Given the description of an element on the screen output the (x, y) to click on. 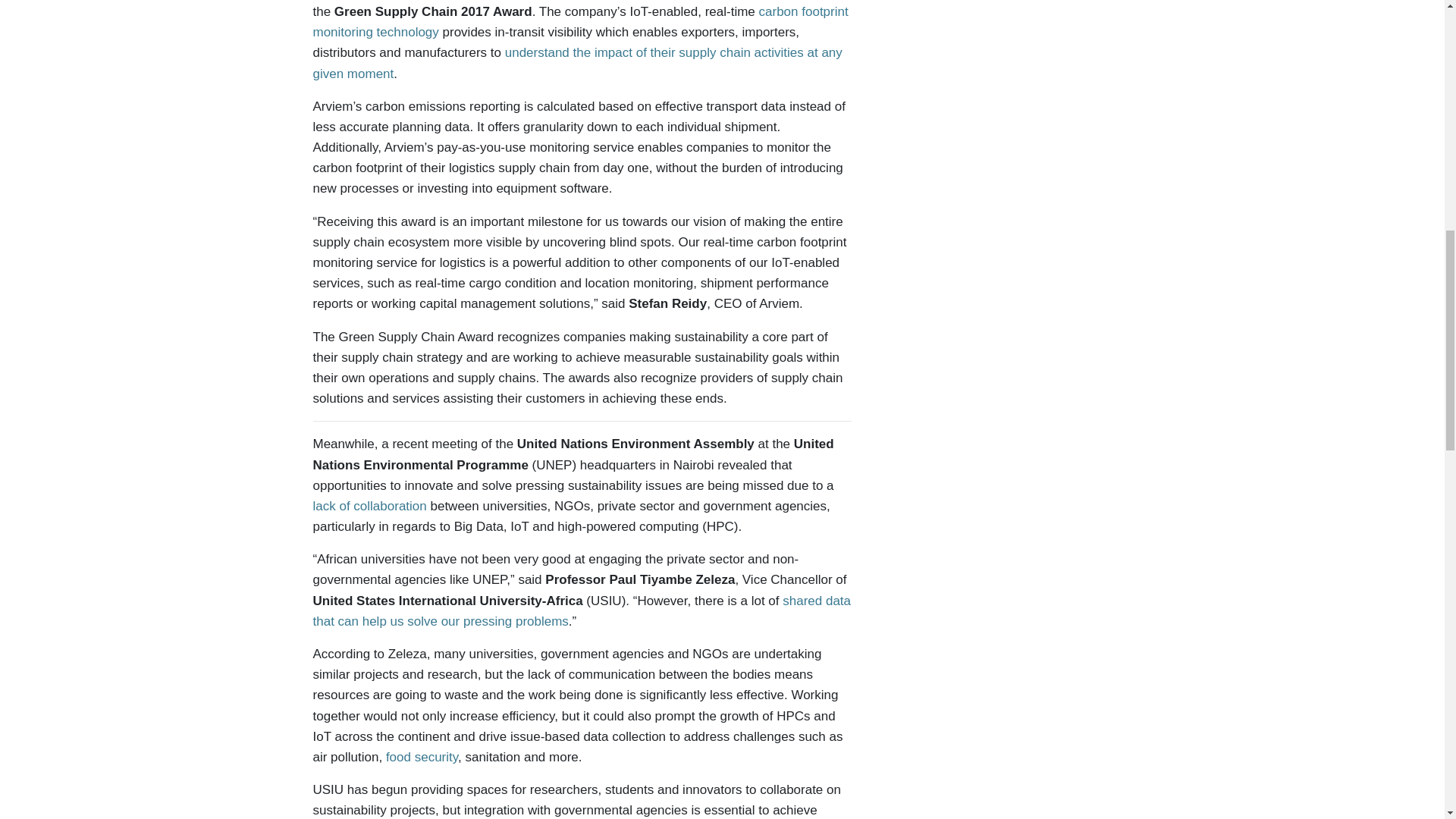
lack of collaboration (369, 505)
carbon footprint monitoring technology (580, 21)
food security (421, 757)
shared data that can help us solve our pressing problems (581, 610)
